Given the description of an element on the screen output the (x, y) to click on. 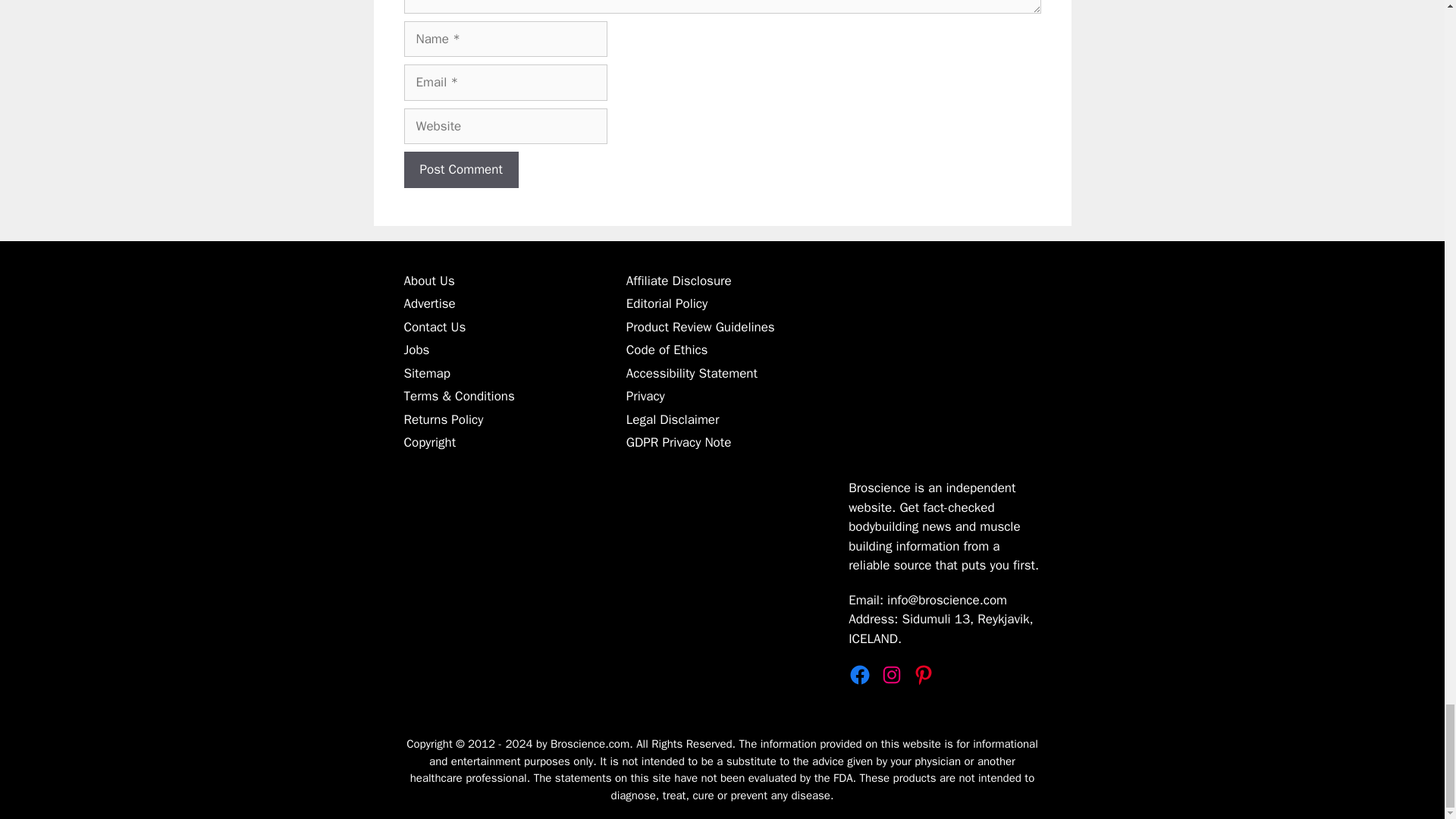
Post Comment (460, 169)
